Given the description of an element on the screen output the (x, y) to click on. 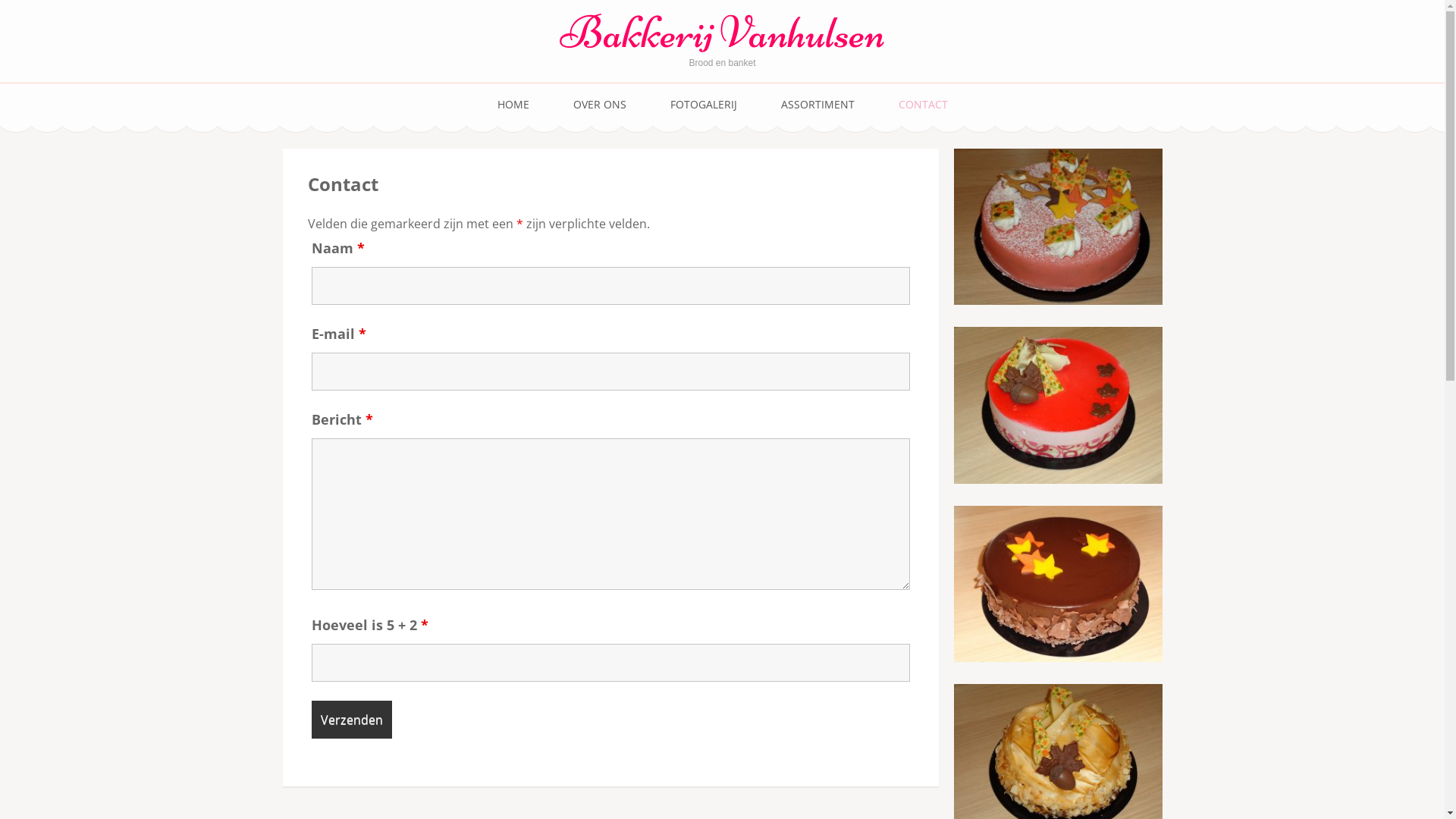
OVER ONS Element type: text (599, 104)
HOME Element type: text (513, 104)
FOTOGALERIJ Element type: text (703, 104)
Verzenden Element type: text (350, 719)
CONTACT Element type: text (922, 104)
ASSORTIMENT Element type: text (817, 104)
Bakkerij Vanhulsen Element type: text (721, 31)
